Given the description of an element on the screen output the (x, y) to click on. 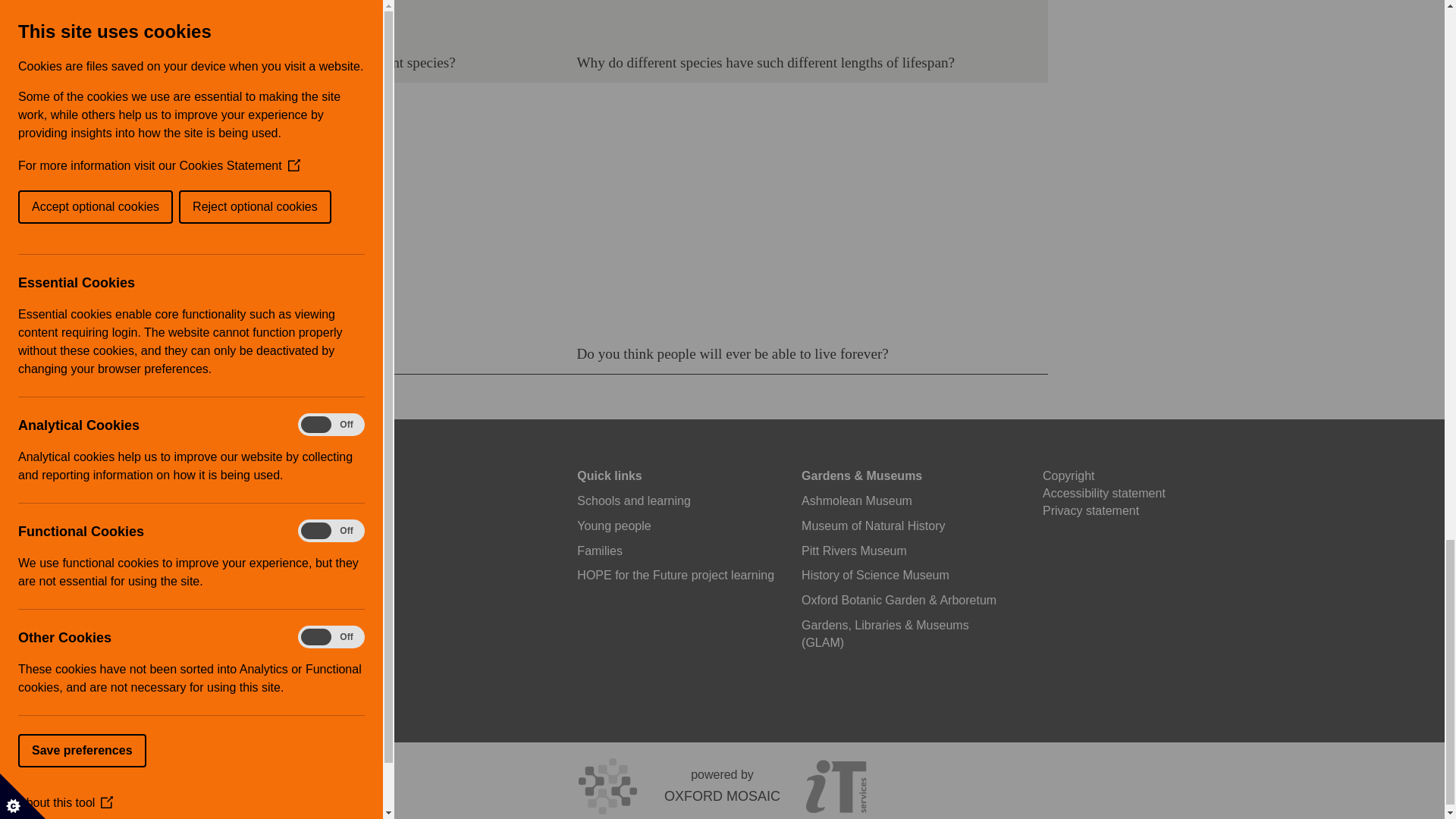
YouTube video player (339, 210)
YouTube video player (788, 19)
YouTube video player (339, 19)
YouTube video player (788, 210)
